Given the description of an element on the screen output the (x, y) to click on. 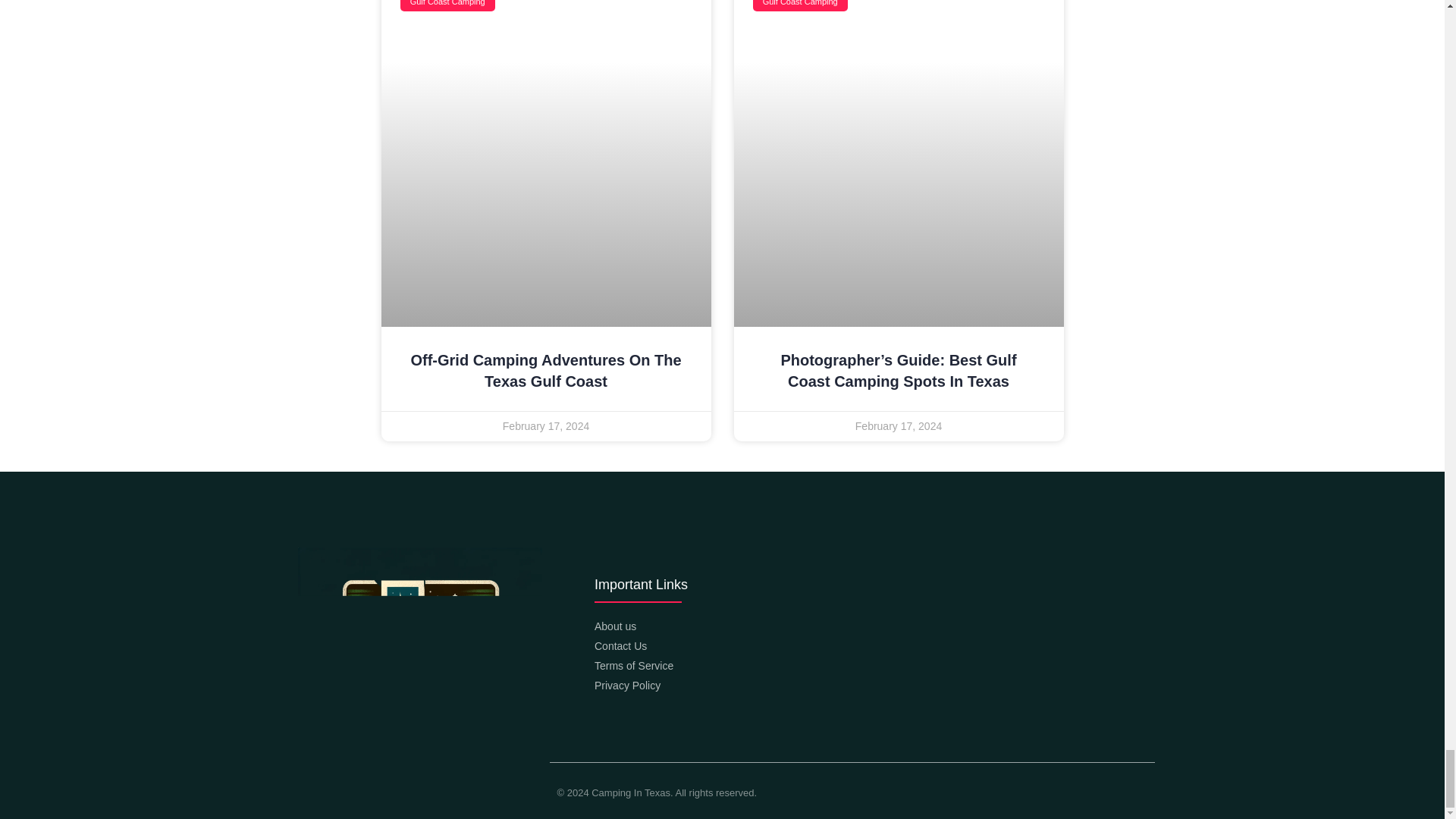
About us (851, 626)
Contact Us (851, 646)
Off-Grid Camping Adventures On The Texas Gulf Coast (545, 370)
